Given the description of an element on the screen output the (x, y) to click on. 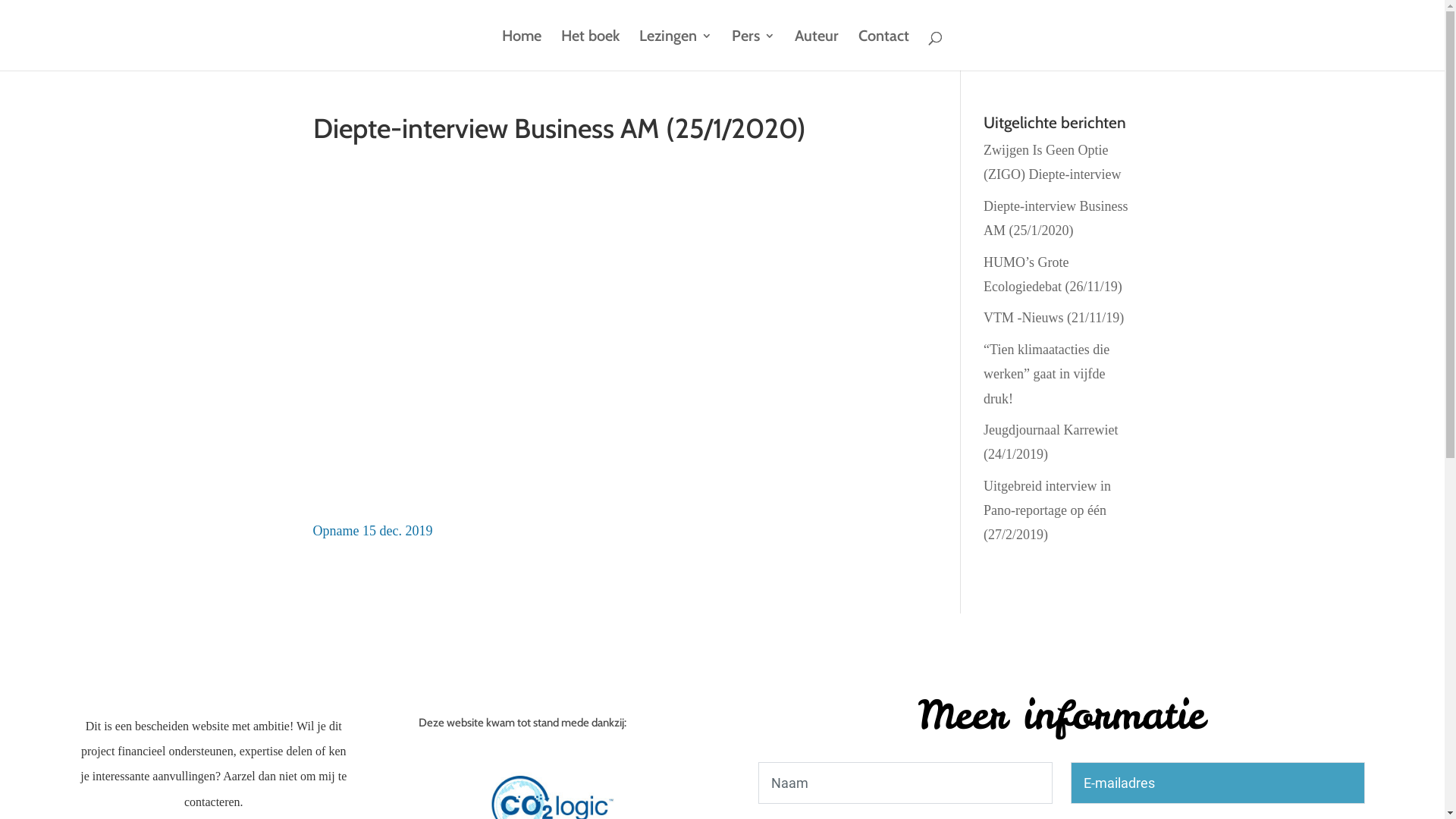
Business AM - Pieter Boussemaere Element type: hover (613, 319)
Home Element type: text (521, 50)
Contact Element type: text (883, 50)
Pers Element type: text (753, 50)
VTM -Nieuws (21/11/19) Element type: text (1053, 317)
Opname 15 dec. 2019 Element type: text (372, 530)
Het boek Element type: text (590, 50)
Lezingen Element type: text (675, 50)
Jeugdjournaal Karrewiet (24/1/2019) Element type: text (1050, 441)
Zwijgen Is Geen Optie (ZIGO) Diepte-interview Element type: text (1051, 162)
Diepte-interview Business AM (25/1/2020) Element type: text (1055, 218)
Auteur Element type: text (816, 50)
